Given the description of an element on the screen output the (x, y) to click on. 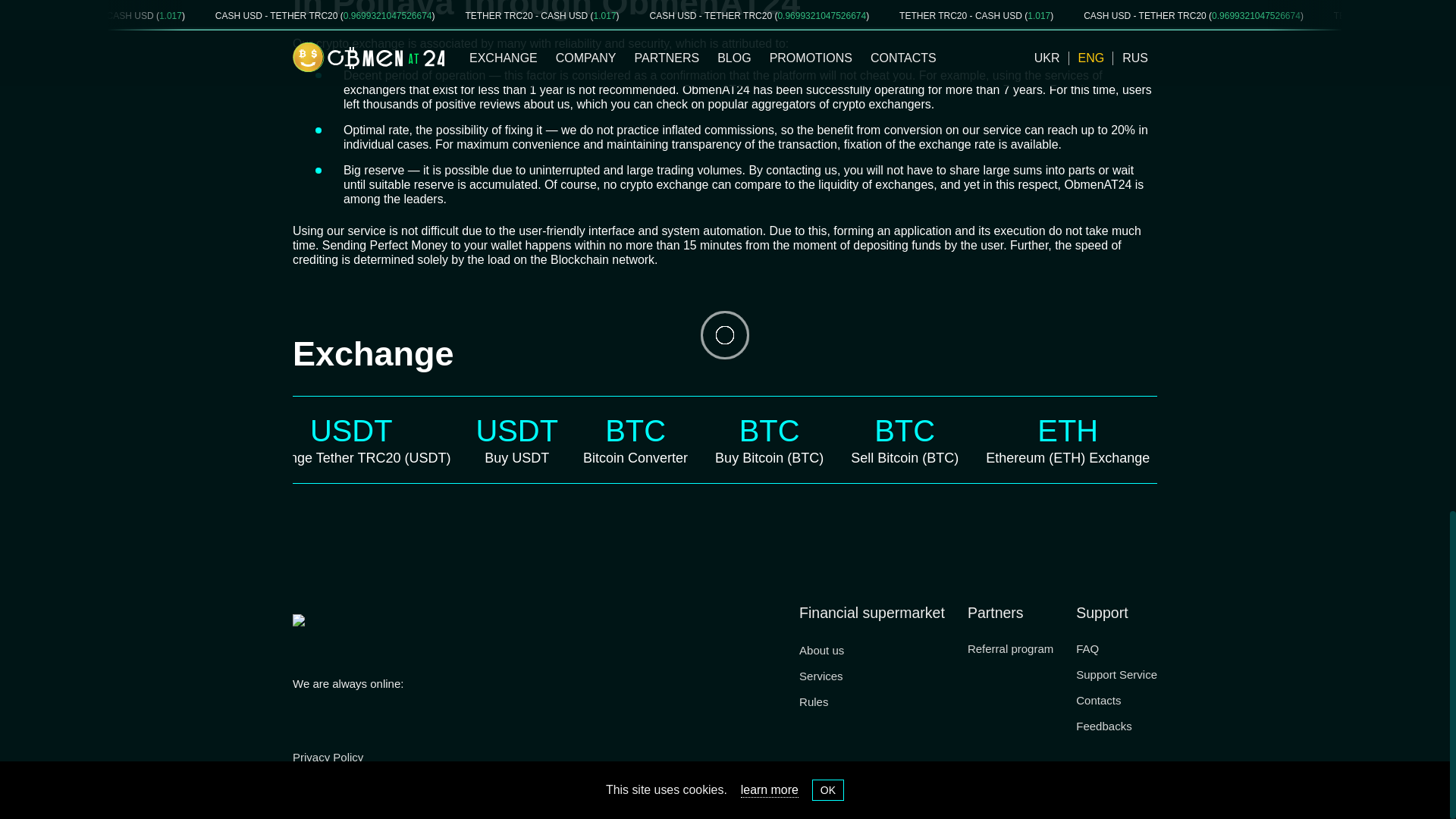
FAQ (1094, 648)
Privacy Policy (327, 756)
Rules (818, 701)
Bitcoin Converter (654, 456)
Feedbacks (1103, 725)
Referral program (1010, 648)
Contacts (1098, 699)
Services (821, 675)
About us (821, 649)
Support Service (1116, 673)
